Given the description of an element on the screen output the (x, y) to click on. 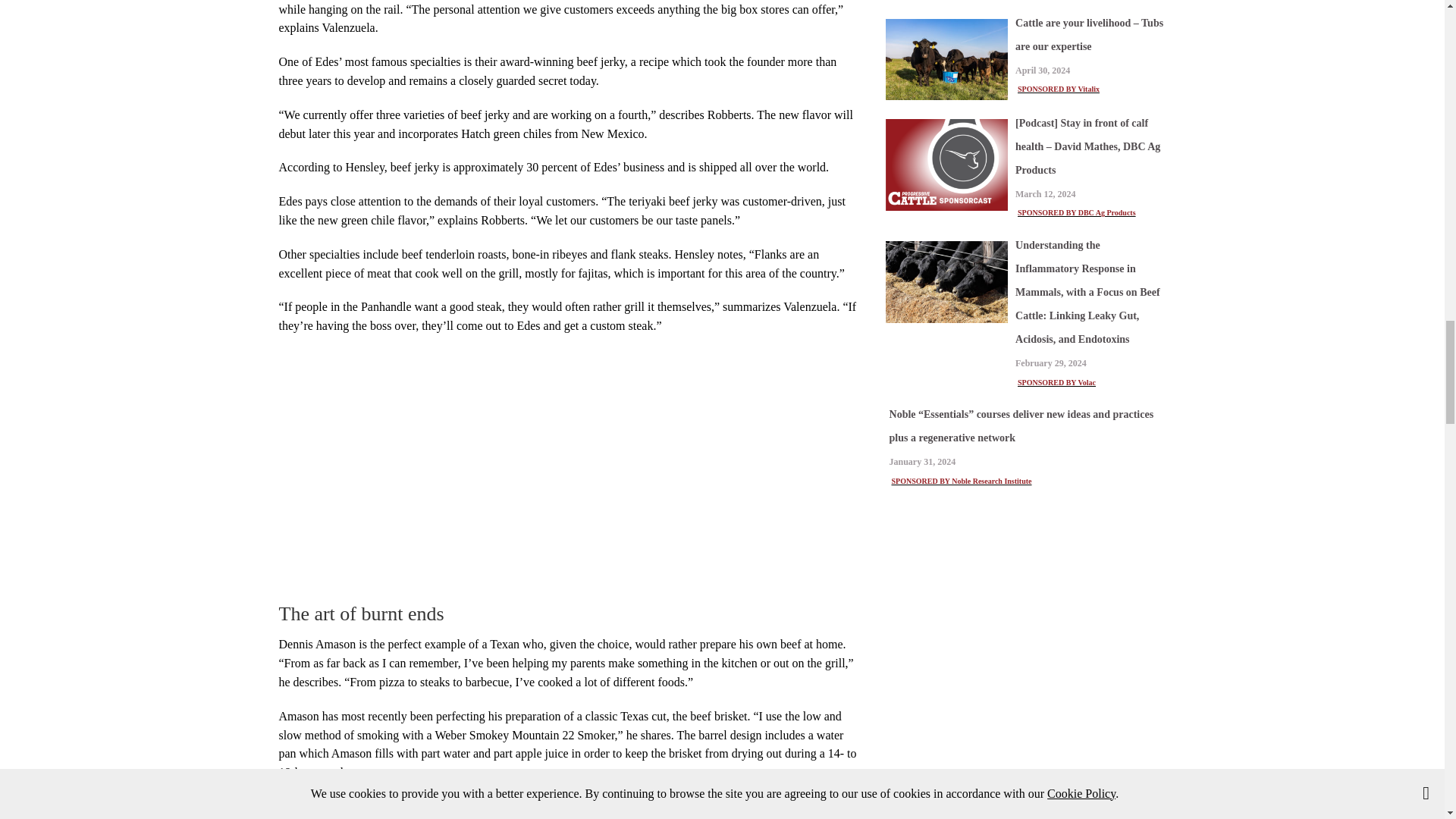
volac-beef-feedng-light.jpg (947, 281)
vitalix-sc-pc-may-2024.jpg (947, 58)
PC-sponsorcast-newsletter.png (947, 164)
